Given the description of an element on the screen output the (x, y) to click on. 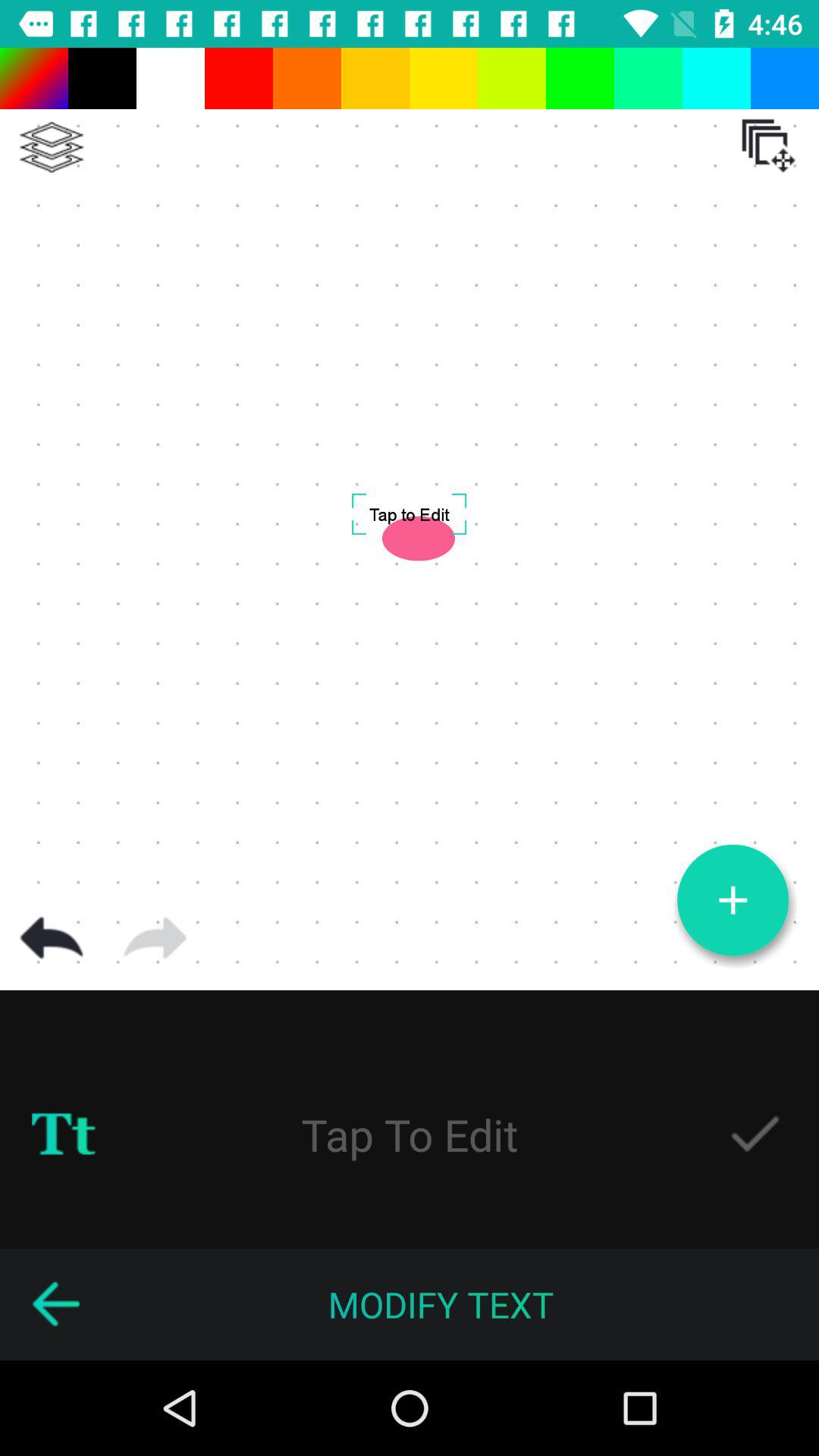
go ahead arrow (155, 938)
